Given the description of an element on the screen output the (x, y) to click on. 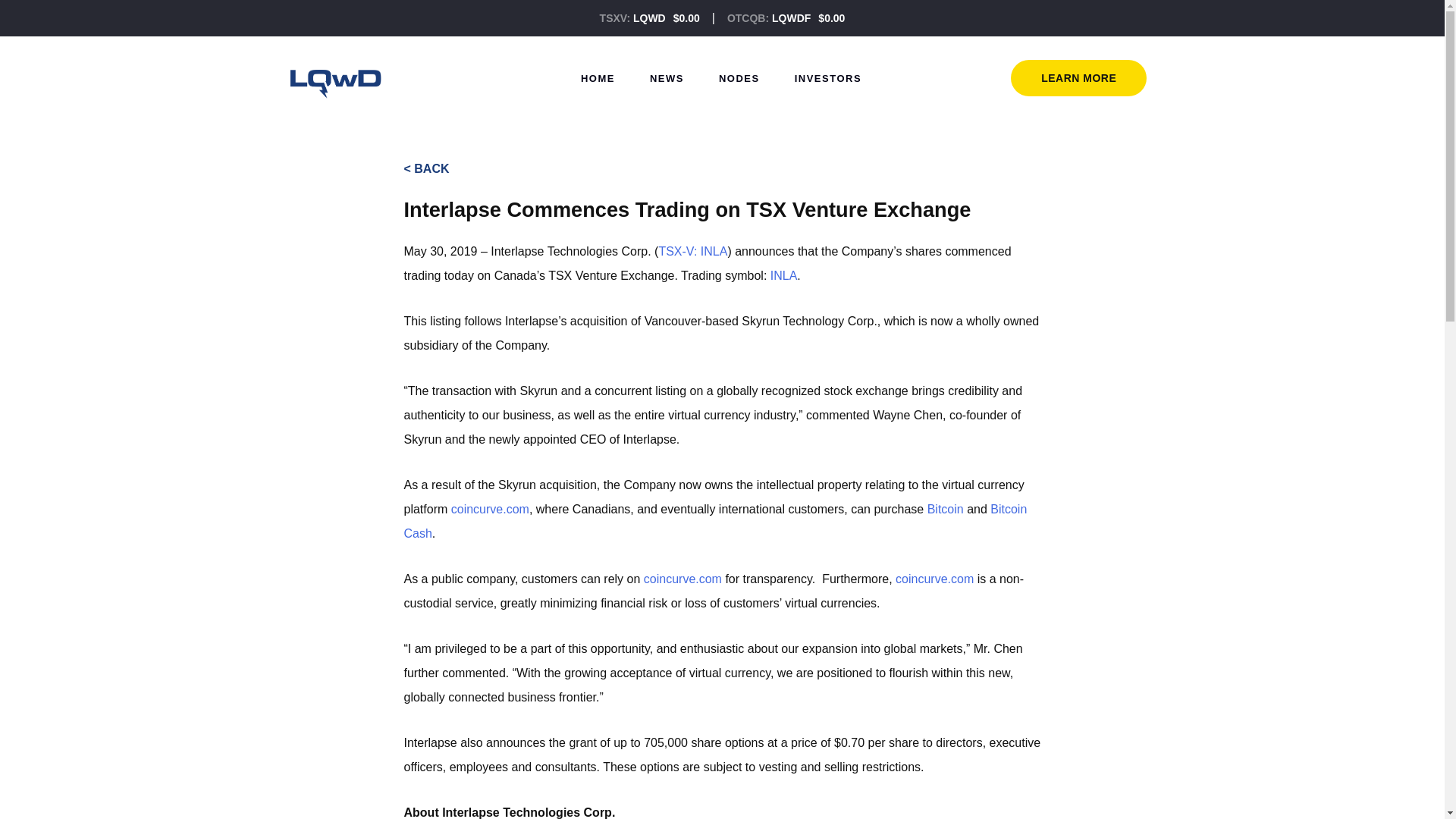
NEWS (666, 77)
LEARN MORE (1078, 77)
INVESTORS (827, 77)
NODES (738, 77)
HOME (598, 77)
